Given the description of an element on the screen output the (x, y) to click on. 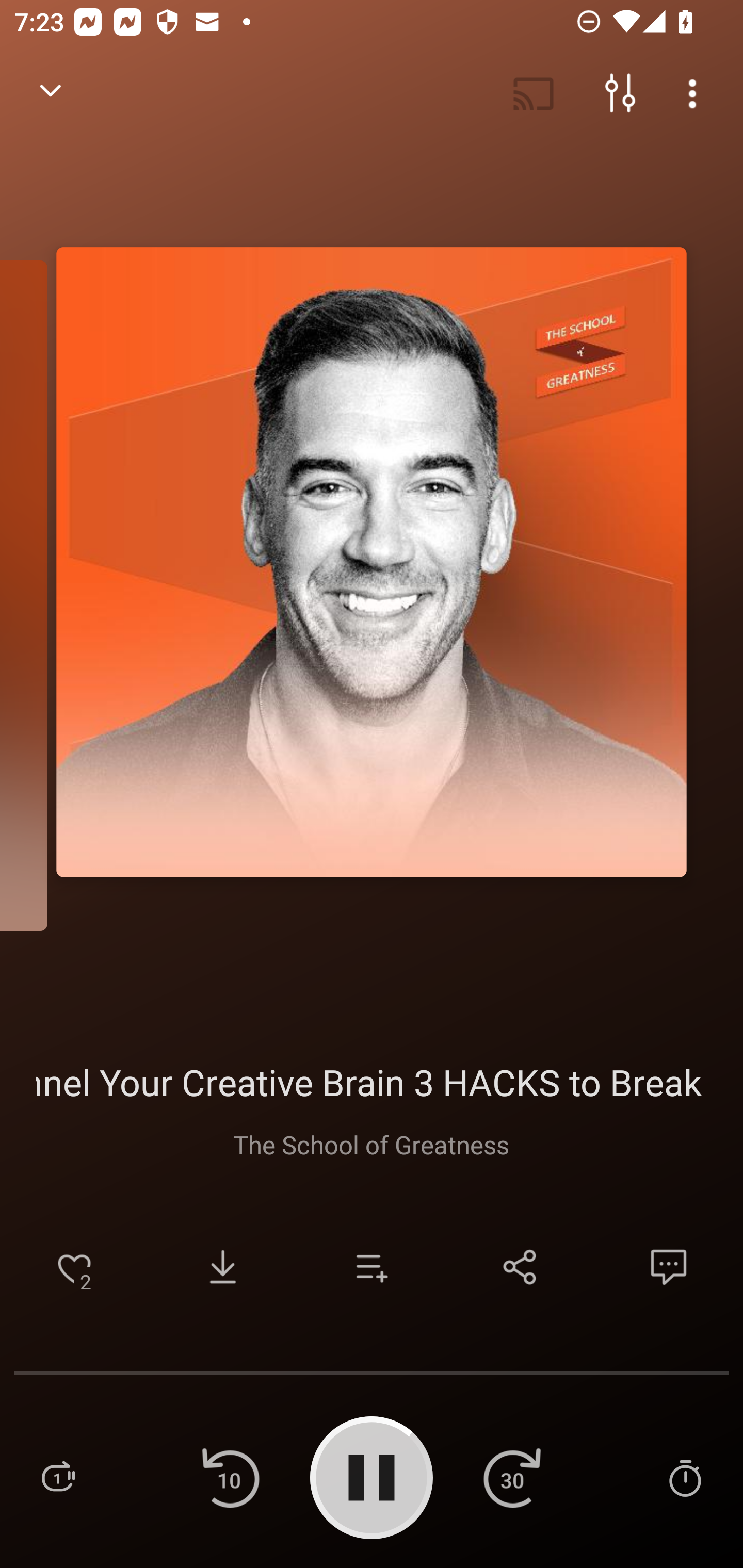
Cast. Disconnected (533, 93)
 Back (50, 94)
The School of Greatness (370, 1144)
2 Add to Favorites (74, 1266)
Comments (668, 1266)
Add to Favorites (73, 1266)
Add to playlist (371, 1266)
Share (519, 1266)
 Playlist (57, 1477)
Sleep Timer  (684, 1477)
